Given the description of an element on the screen output the (x, y) to click on. 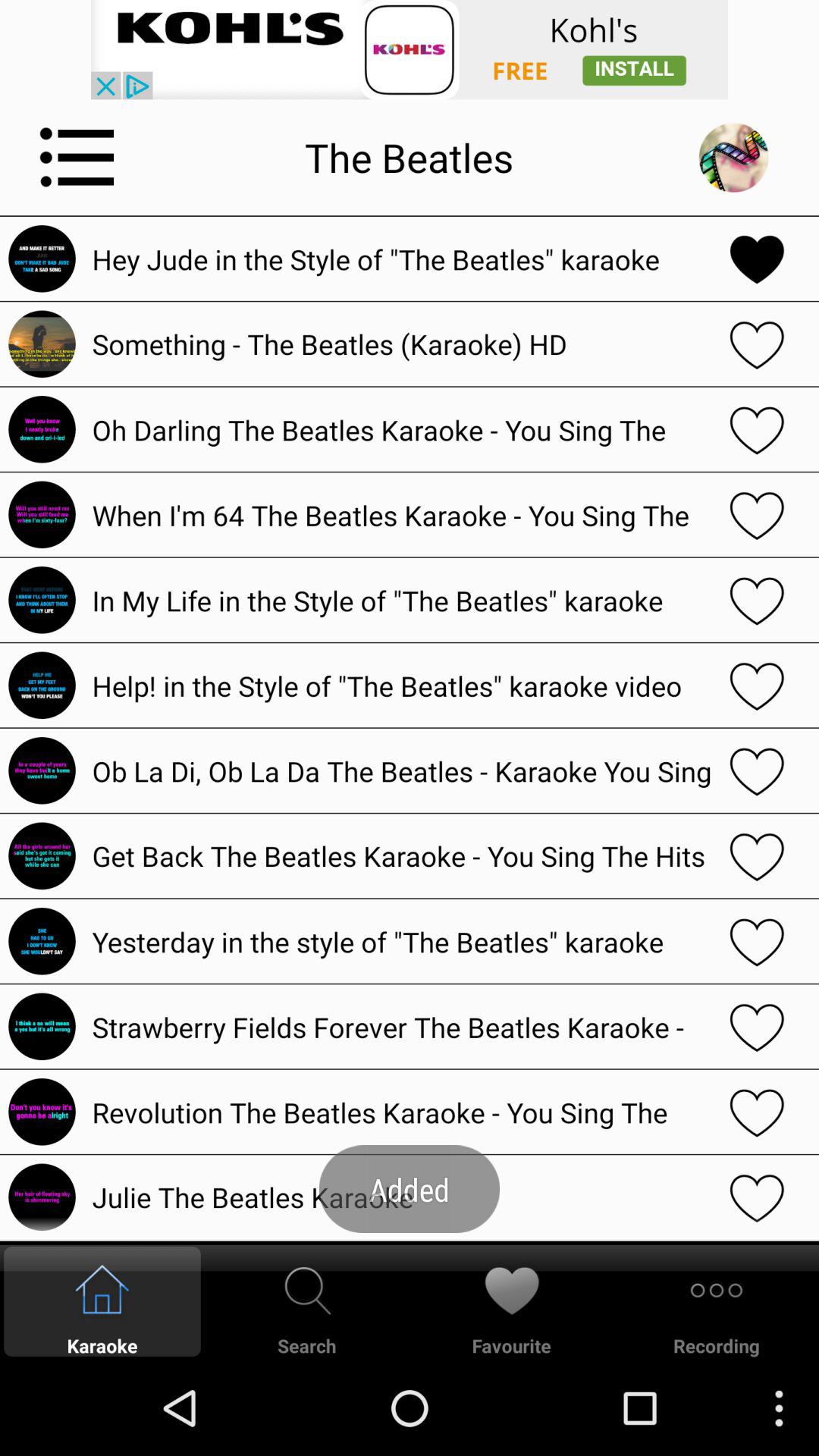
click to favorites option (756, 599)
